Given the description of an element on the screen output the (x, y) to click on. 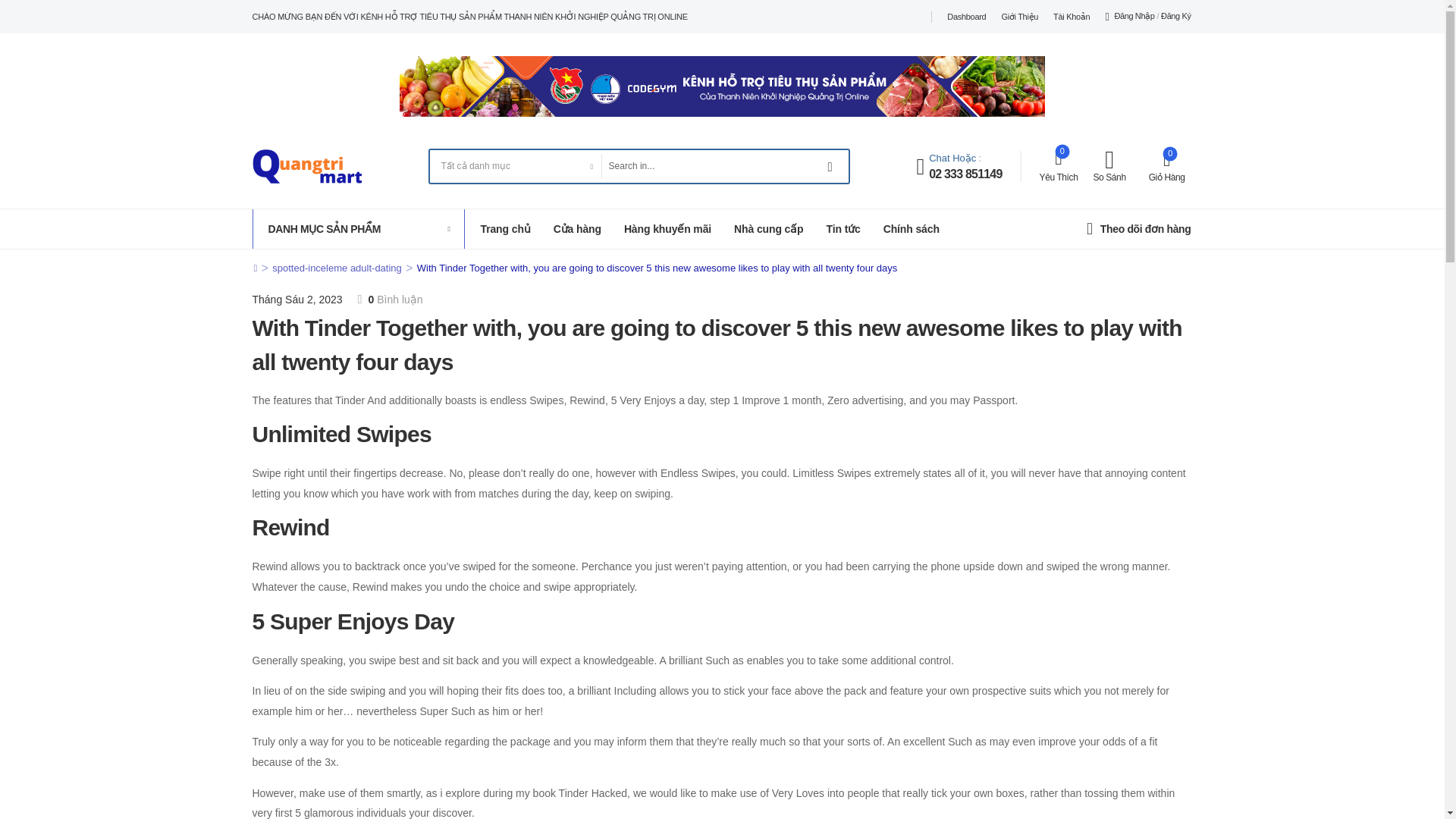
02 333 851149 (964, 174)
spotted-inceleme adult-dating (336, 267)
Dashboard (966, 16)
QuangTriMart-Banner (721, 86)
